Given the description of an element on the screen output the (x, y) to click on. 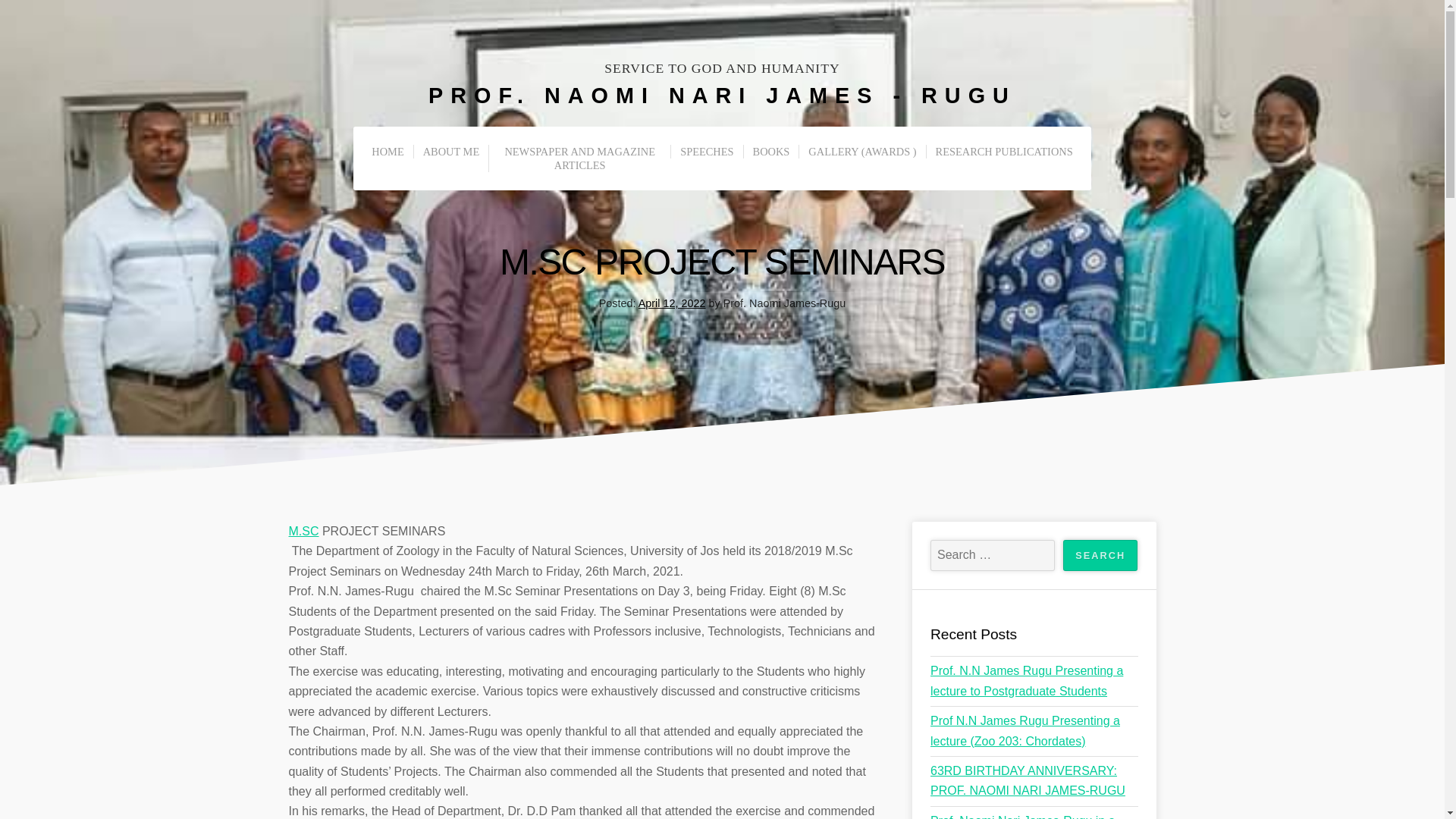
63RD BIRTHDAY ANNIVERSARY: PROF. NAOMI NARI JAMES-RUGU (1027, 780)
SPEECHES (705, 151)
HOME (387, 151)
PROF. NAOMI NARI JAMES - RUGU (722, 95)
BOOKS (770, 151)
Search (1099, 554)
ABOUT ME (451, 151)
April 12, 2022 (672, 303)
M.SC (303, 530)
RESEARCH PUBLICATIONS (1003, 151)
NEWSPAPER AND MAGAZINE ARTICLES (578, 157)
Search (1099, 554)
